Given the description of an element on the screen output the (x, y) to click on. 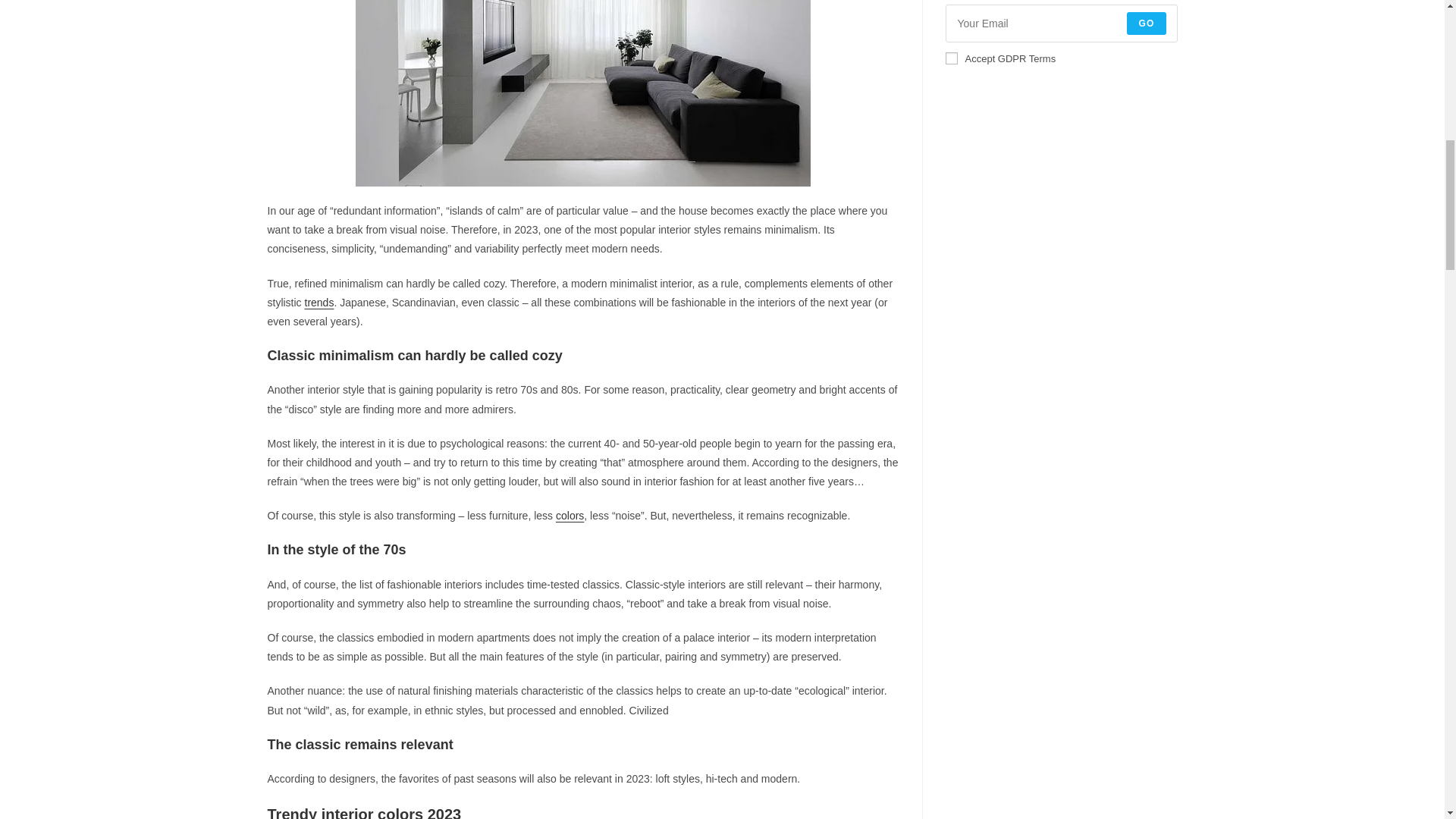
1 (950, 58)
trends (319, 302)
colors (569, 515)
